Given the description of an element on the screen output the (x, y) to click on. 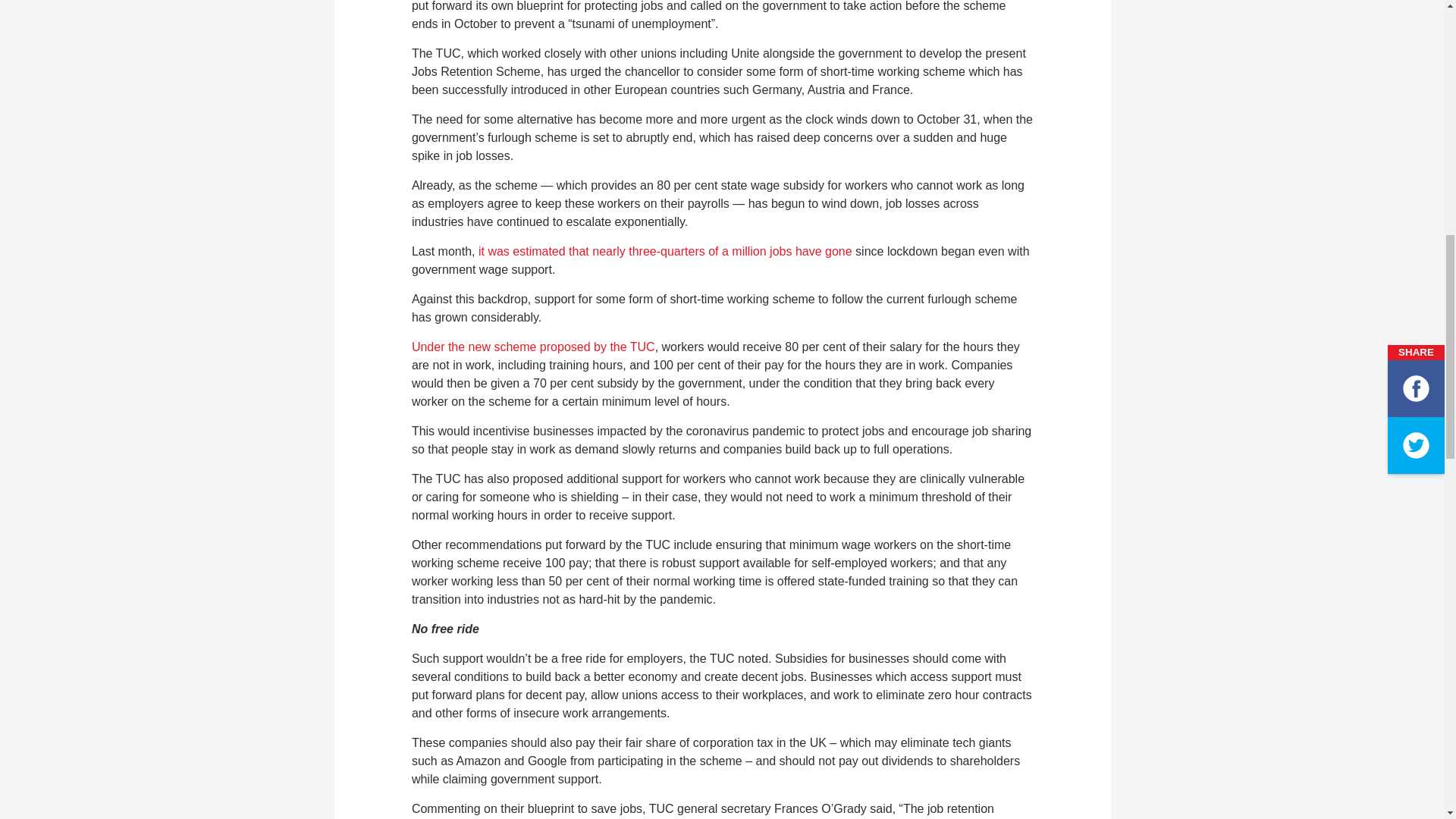
Under the new scheme proposed by the TUC (533, 346)
